Given the description of an element on the screen output the (x, y) to click on. 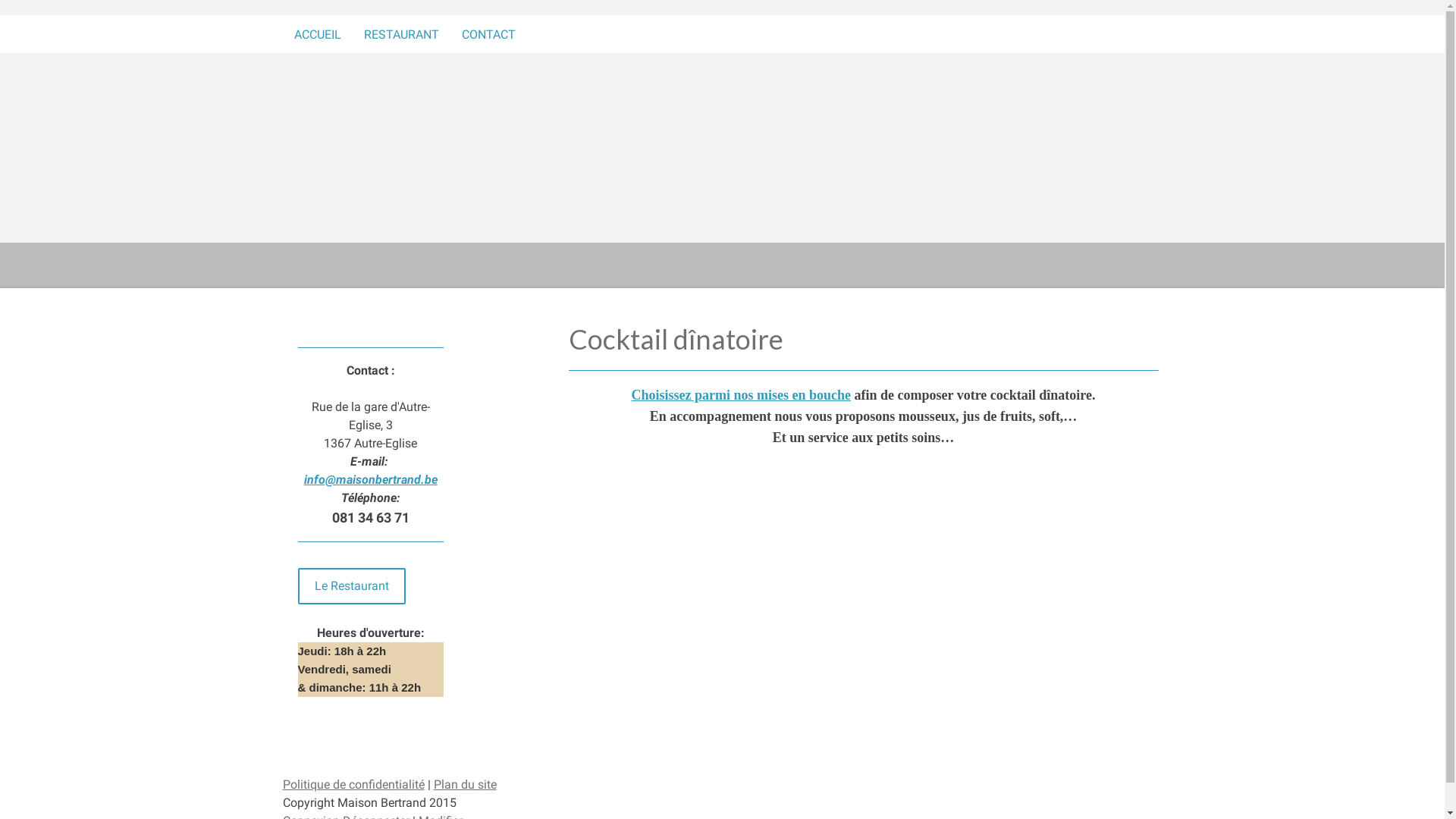
CONTACT Element type: text (488, 34)
ACCUEIL Element type: text (316, 34)
Plan du site Element type: text (464, 784)
Le Restaurant Element type: text (350, 585)
RESTAURANT Element type: text (400, 34)
info@maisonbertrand.be Element type: text (370, 479)
Choisissez parmi nos mises en bouche Element type: text (740, 394)
